Given the description of an element on the screen output the (x, y) to click on. 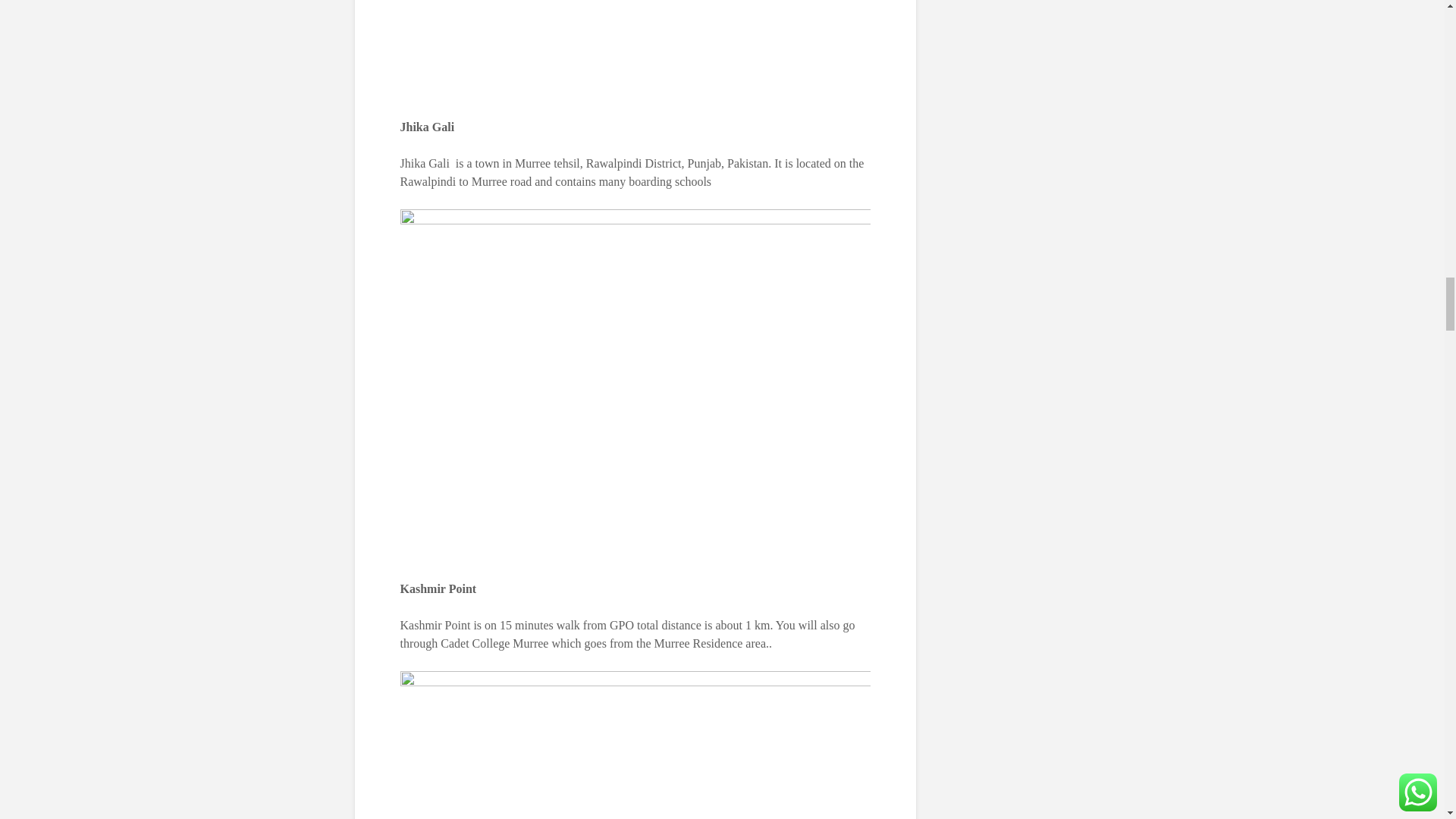
Pindi Point Chair lift (635, 744)
Jhika Gali in Winters (635, 49)
